Given the description of an element on the screen output the (x, y) to click on. 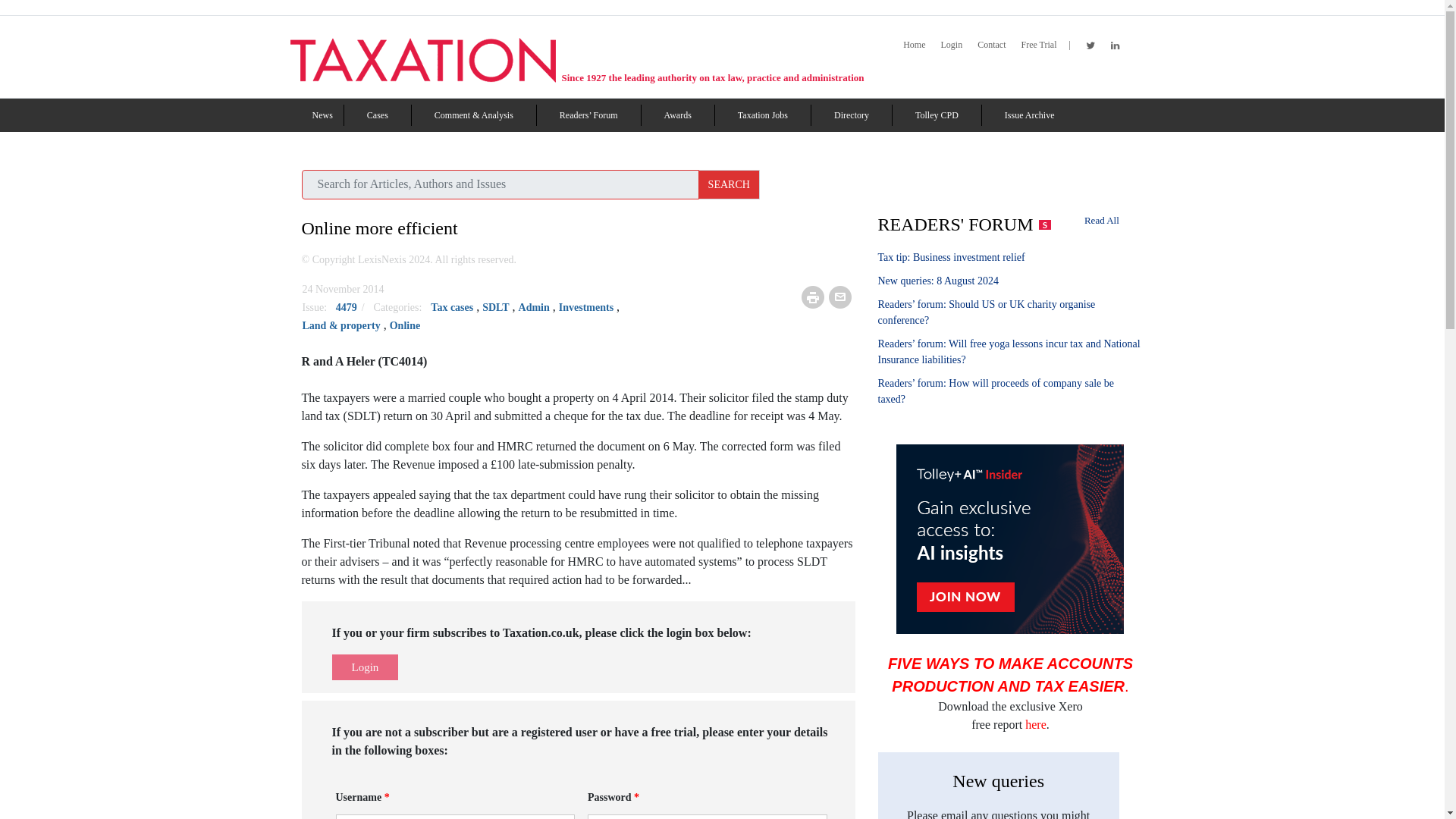
News (323, 115)
Tolley CPD (936, 115)
Home (913, 44)
Taxation Jobs (762, 115)
SEARCH (729, 184)
Tax cases (451, 307)
Directory (851, 115)
Issue Archive (1029, 115)
Taxation Jobs (762, 115)
Tolley CPD (936, 115)
Issue Archive (1029, 115)
Awards (677, 115)
Contact (991, 44)
Taxation Awards (677, 115)
News (323, 115)
